Given the description of an element on the screen output the (x, y) to click on. 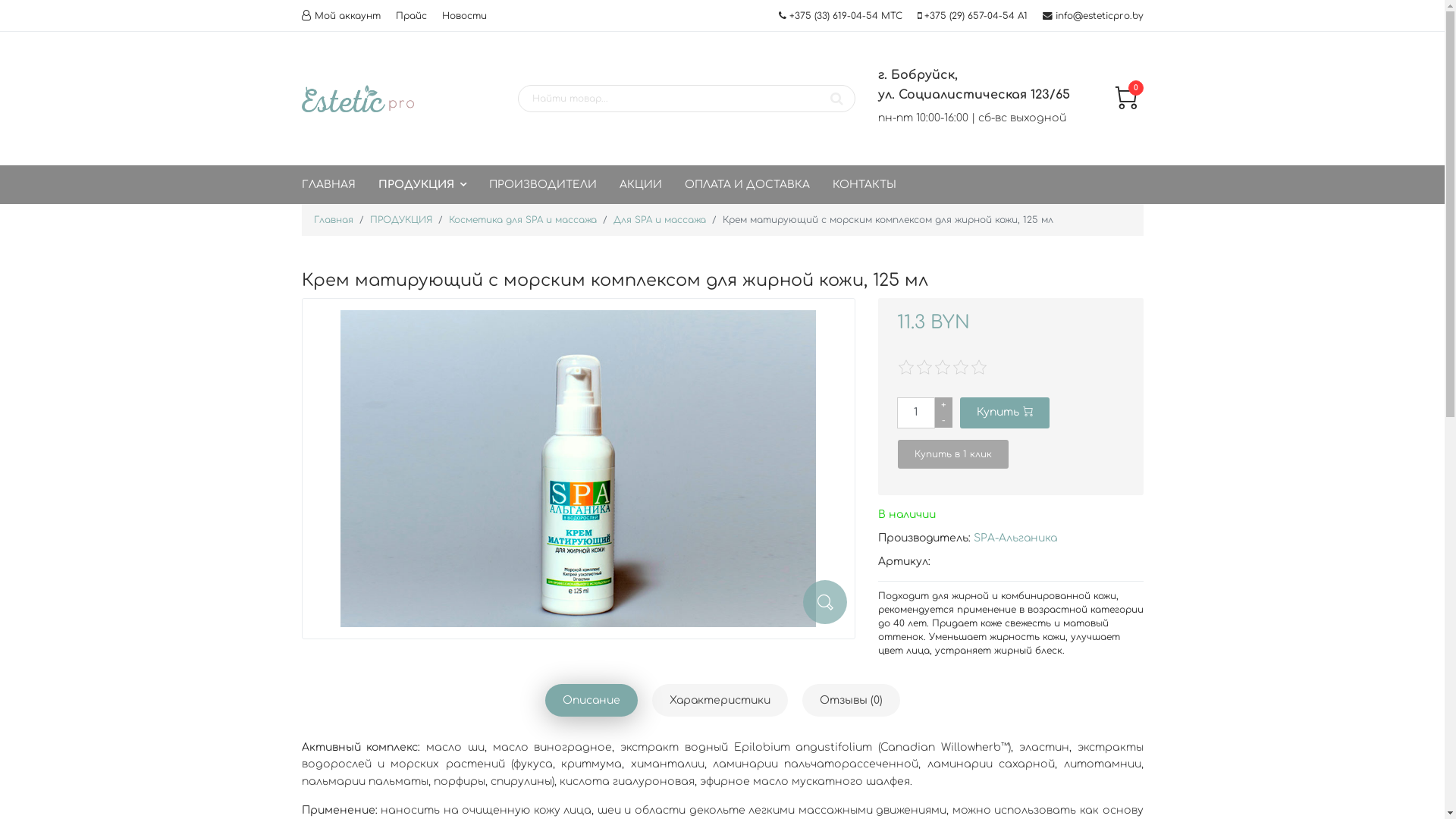
info@esteticpro.by Element type: text (1099, 15)
+ Element type: text (942, 404)
0 Element type: text (1125, 105)
- Element type: text (942, 419)
+375 (33) 619-04-54 MTC Element type: text (844, 15)
+375 (29) 657-04-54 A1 Element type: text (974, 15)
